Given the description of an element on the screen output the (x, y) to click on. 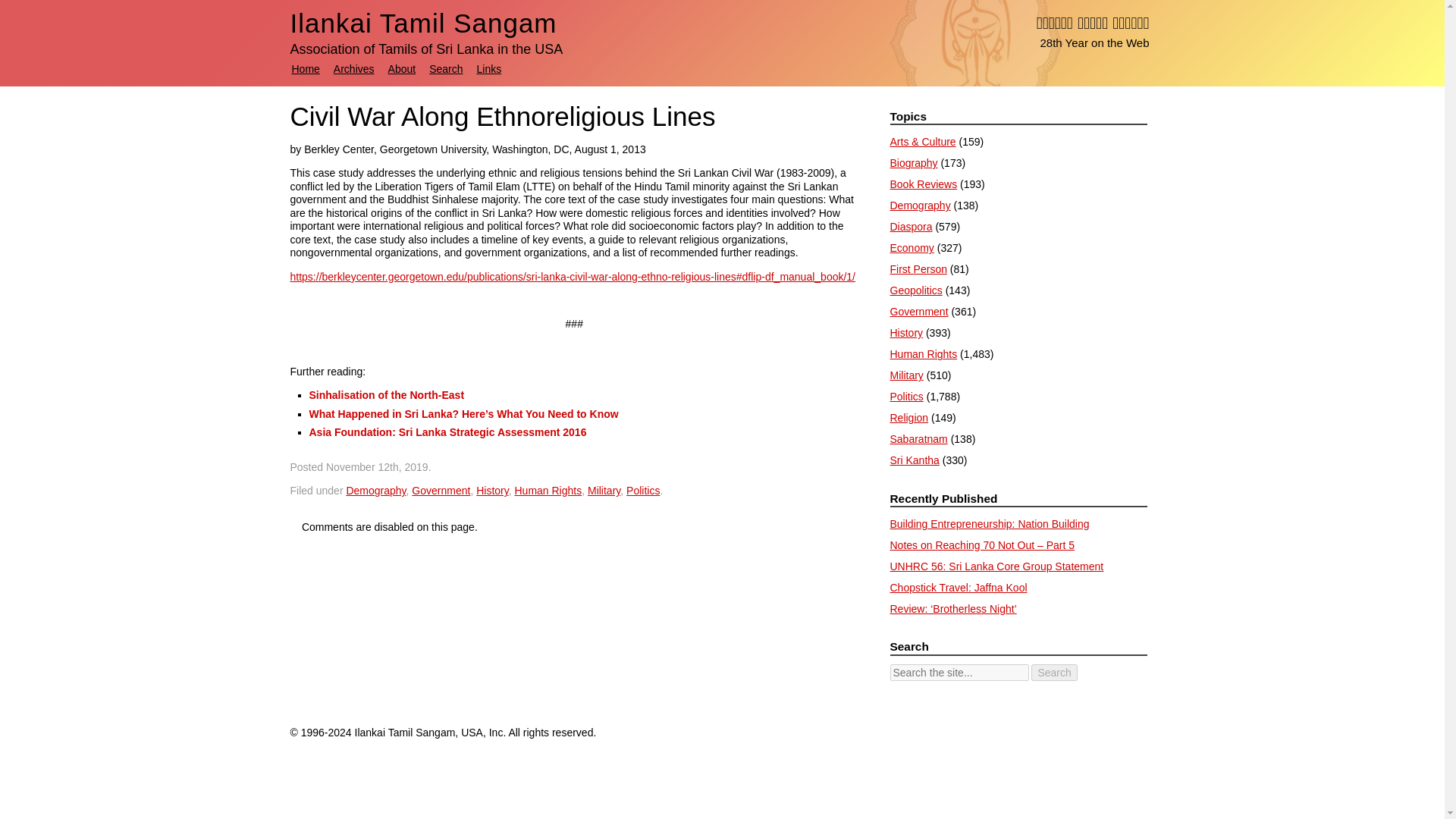
Ilankai Tamil Sangam (422, 22)
Search (446, 68)
First Person (918, 268)
Book Reviews (923, 184)
Search (1053, 672)
View all posts filed under Politics (906, 396)
History (492, 490)
View all posts filed under Government (919, 311)
Building Entrepreneurship: Nation Building (989, 523)
Chopstick Travel: Jaffna Kool (958, 587)
View all posts filed under Sri Kantha (914, 460)
About (402, 68)
Sinhalisation of the North-East (386, 395)
Demography (376, 490)
Sri Kantha (914, 460)
